Given the description of an element on the screen output the (x, y) to click on. 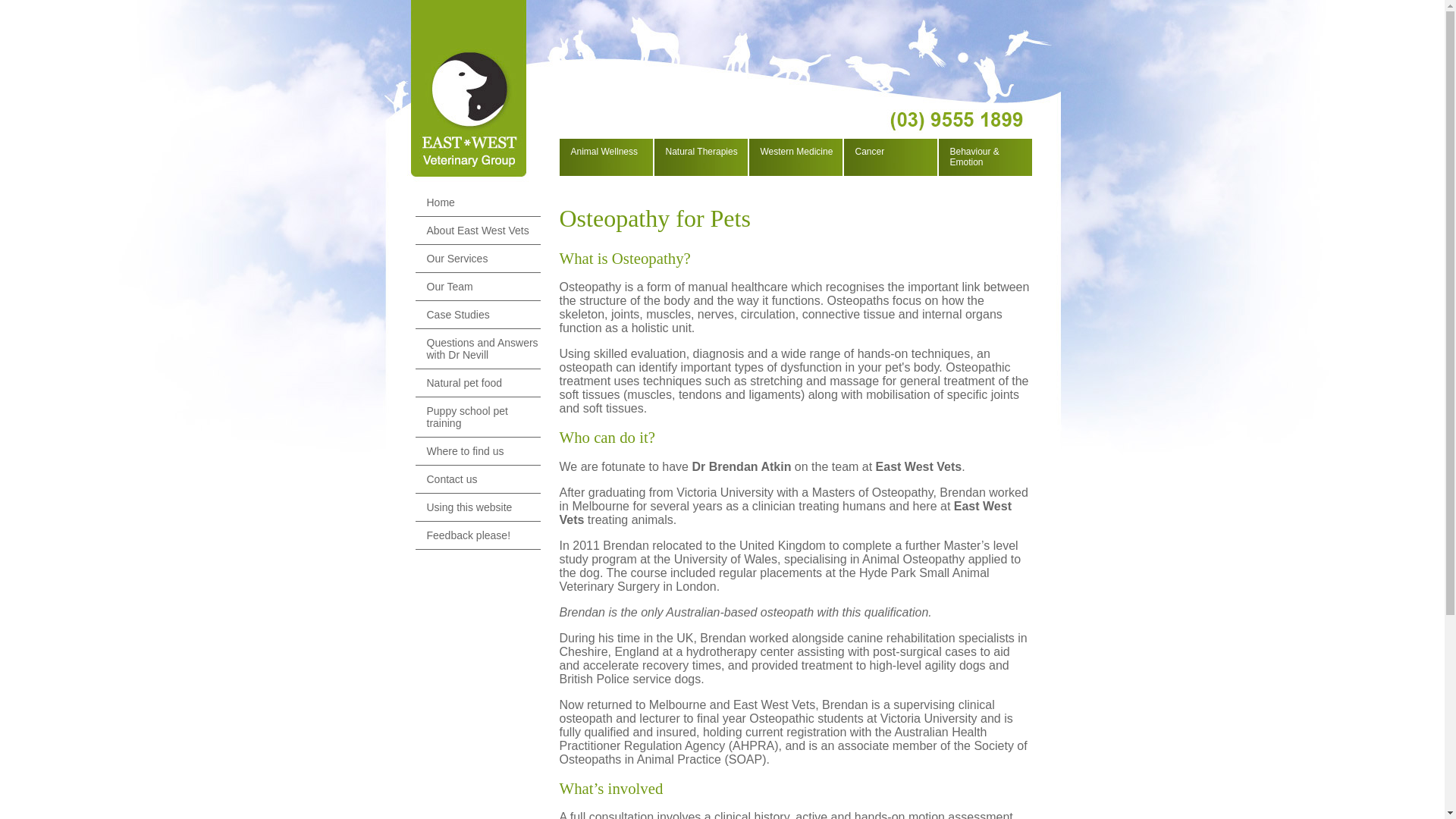
Natural Therapies Element type: text (699, 151)
Our Team Element type: text (477, 287)
About East West Vets Element type: text (477, 230)
Where to find us Element type: text (477, 451)
Using this website Element type: text (477, 507)
Contact us Element type: text (477, 479)
Questions and Answers with Dr Nevill Element type: text (477, 349)
Puppy school pet training Element type: text (477, 417)
Behaviour & Emotion Element type: text (983, 156)
Animal Wellness Element type: text (604, 151)
Natural pet food Element type: text (477, 383)
Feedback please! Element type: text (477, 535)
Case Studies Element type: text (477, 315)
Home Element type: text (477, 202)
Western Medicine Element type: text (793, 151)
Our Services Element type: text (477, 258)
Cancer Element type: text (889, 151)
